Given the description of an element on the screen output the (x, y) to click on. 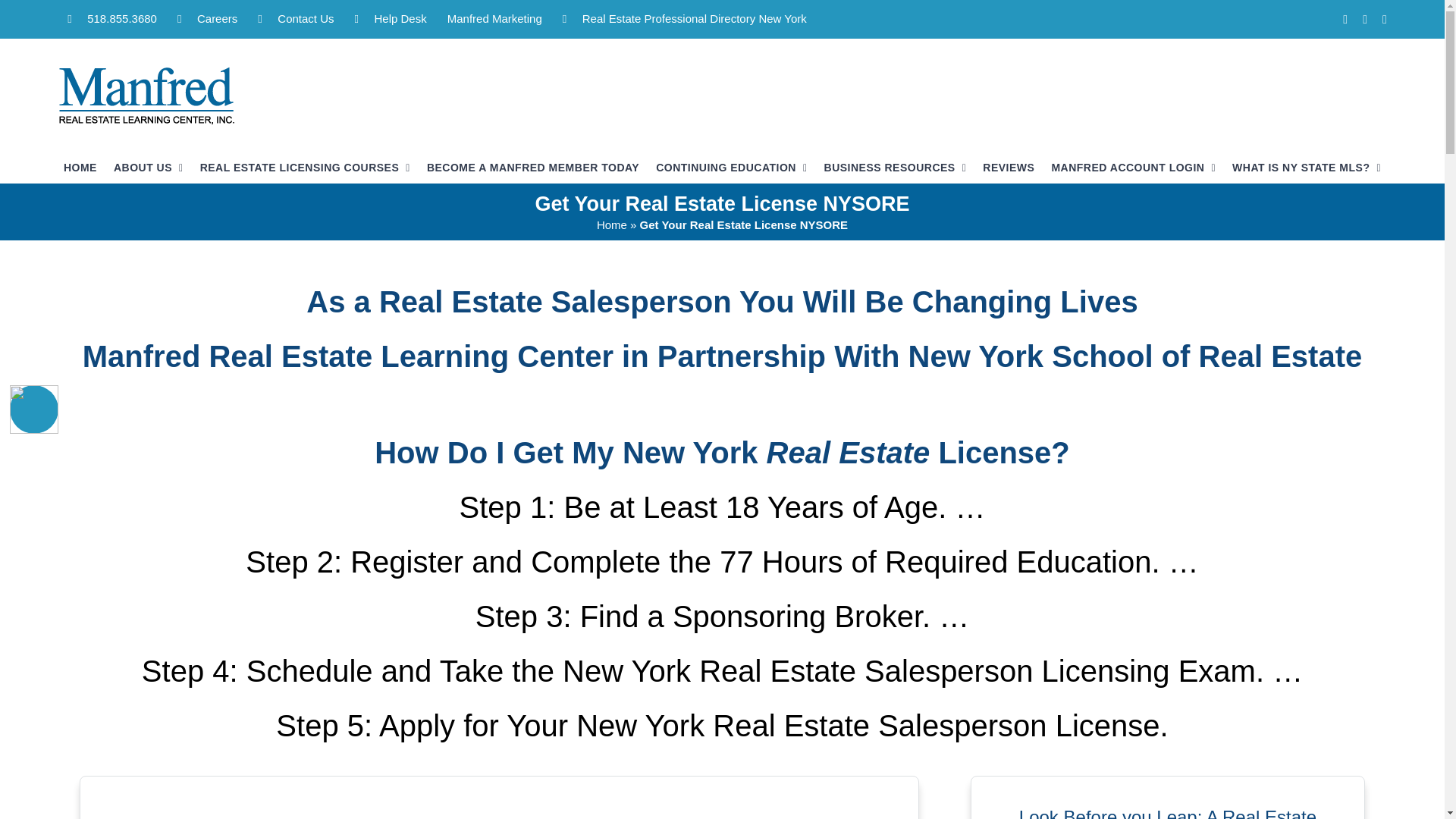
REAL ESTATE LICENSING COURSES (305, 167)
Manfred Marketing (494, 18)
ABOUT US (148, 167)
BUSINESS RESOURCES (895, 167)
518.855.3680 (112, 18)
BECOME A MANFRED MEMBER TODAY (532, 167)
Careers (207, 18)
HOME (80, 167)
Real Estate Professional Directory New York (684, 18)
CONTINUING EDUCATION (731, 167)
Accessibility Menu (34, 409)
Contact Us (295, 18)
Help Desk (390, 18)
